Given the description of an element on the screen output the (x, y) to click on. 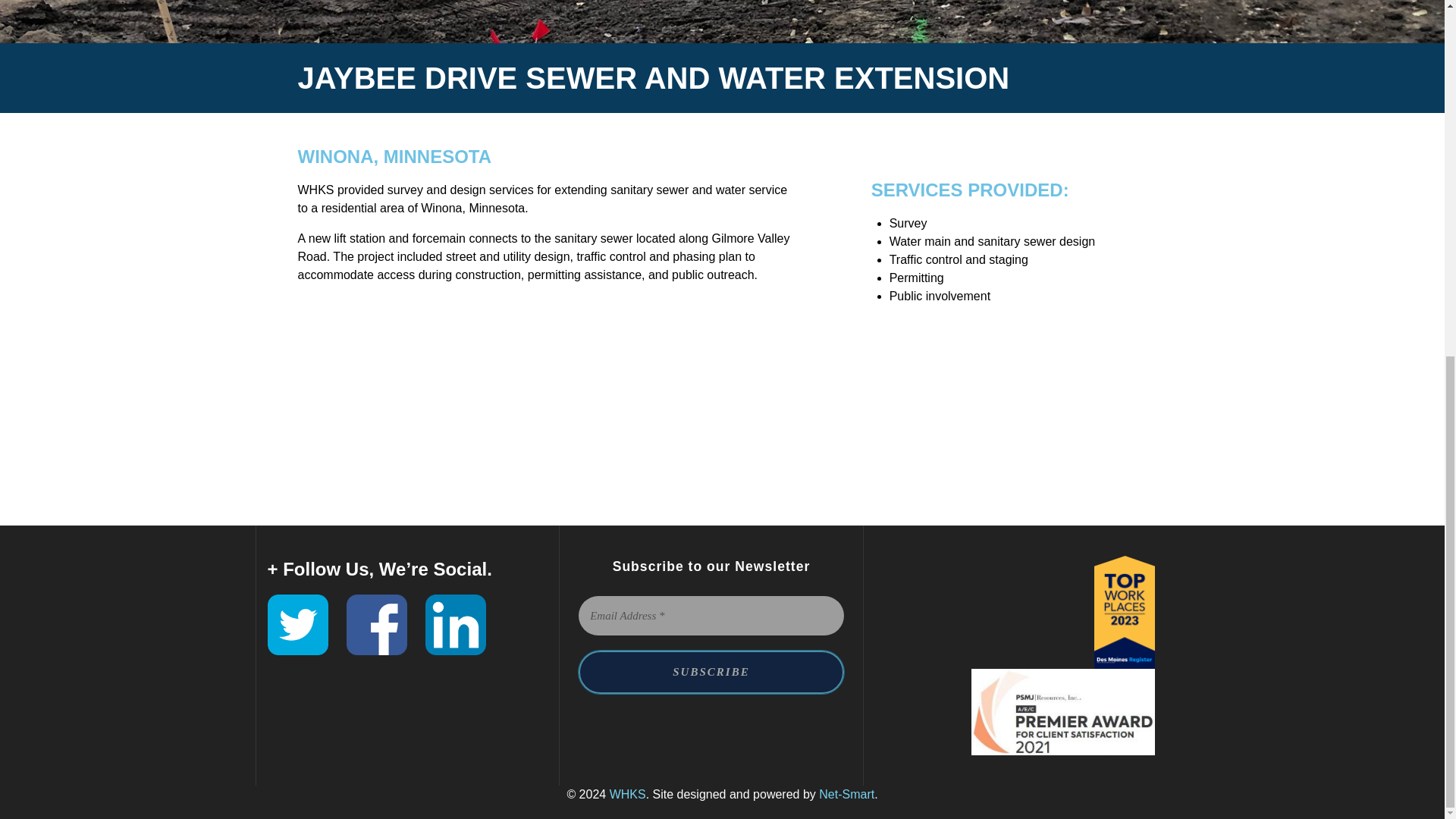
Subscribe (711, 671)
Email Address (711, 616)
Net-Smart (846, 793)
WHKS (628, 793)
Subscribe (711, 671)
